Given the description of an element on the screen output the (x, y) to click on. 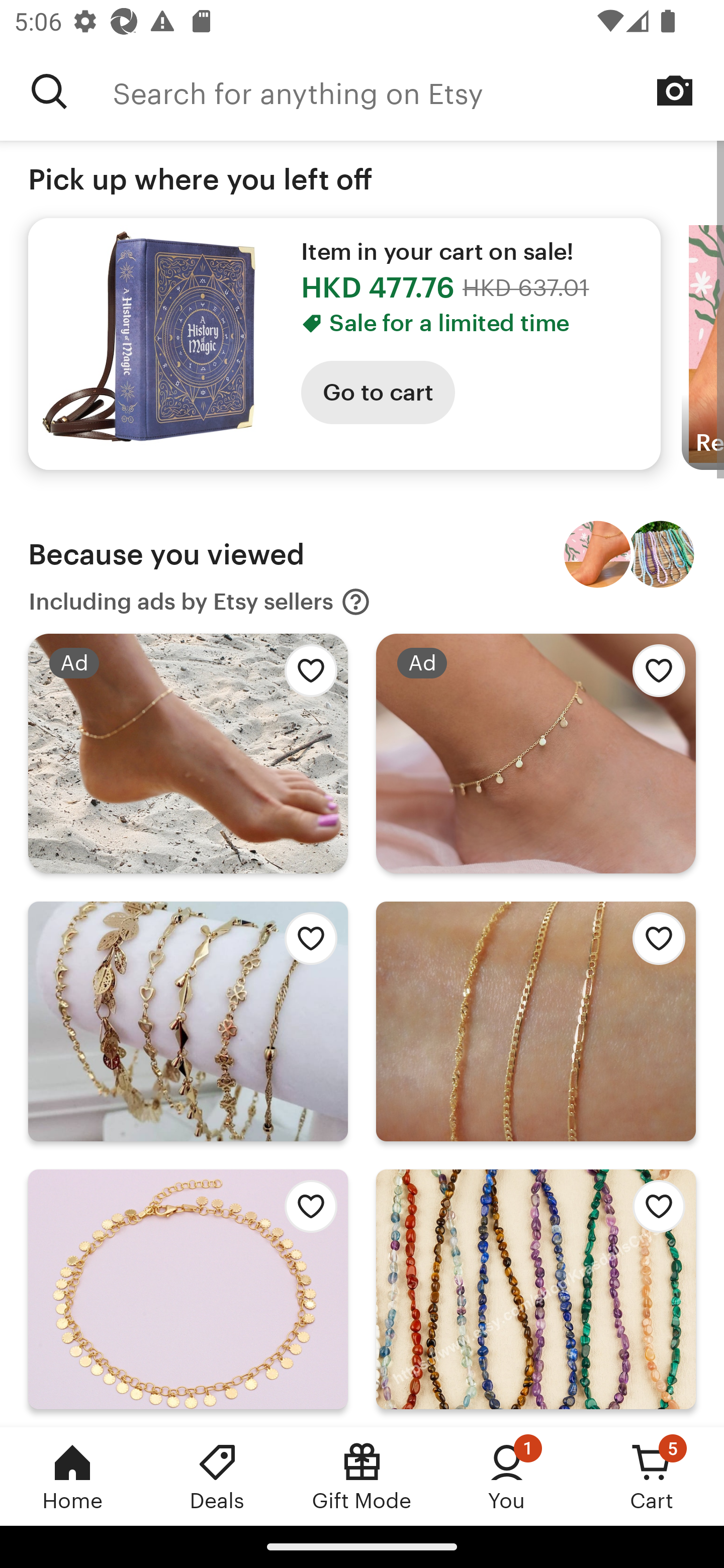
Search for anything on Etsy (49, 91)
Search by image (674, 90)
Search for anything on Etsy (418, 91)
Including ads by Etsy sellers (199, 601)
Deals (216, 1475)
Gift Mode (361, 1475)
You, 1 new notification You (506, 1475)
Cart, 5 new notifications Cart (651, 1475)
